Given the description of an element on the screen output the (x, y) to click on. 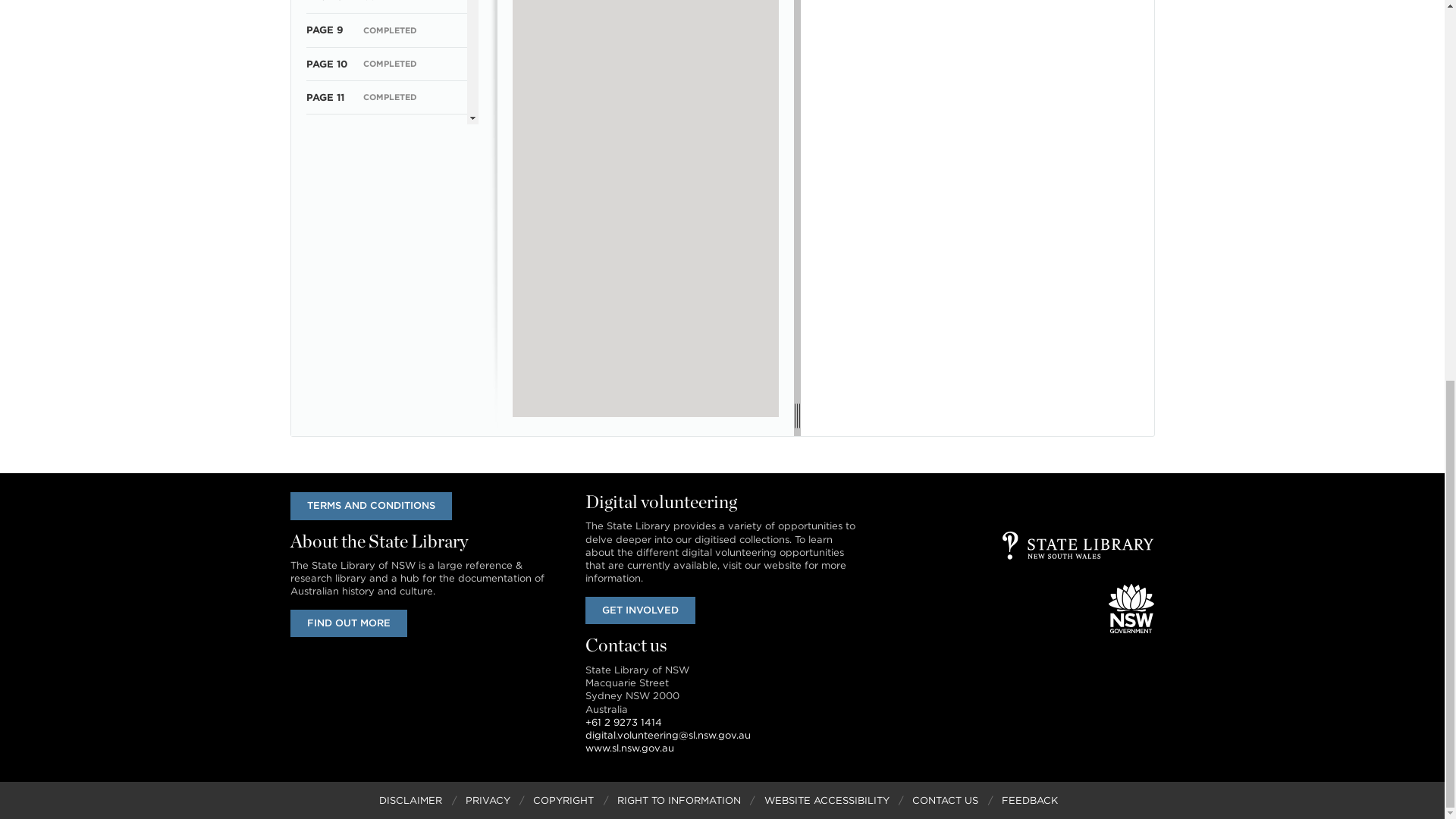
PAGE 15 (325, 231)
PAGE 21 (325, 432)
PAGE 8 (323, 1)
State Library of NSW (1078, 545)
PAGE 20 (327, 399)
PAGE 25 (327, 567)
PAGE 19 (326, 365)
PAGE 18 (325, 332)
PAGE 26 (327, 600)
PAGE 17 (325, 298)
NSW Government (1131, 608)
PAGE 22 (327, 466)
PAGE 10 (326, 63)
PAGE 12 (325, 130)
PAGE 9 (324, 30)
